Given the description of an element on the screen output the (x, y) to click on. 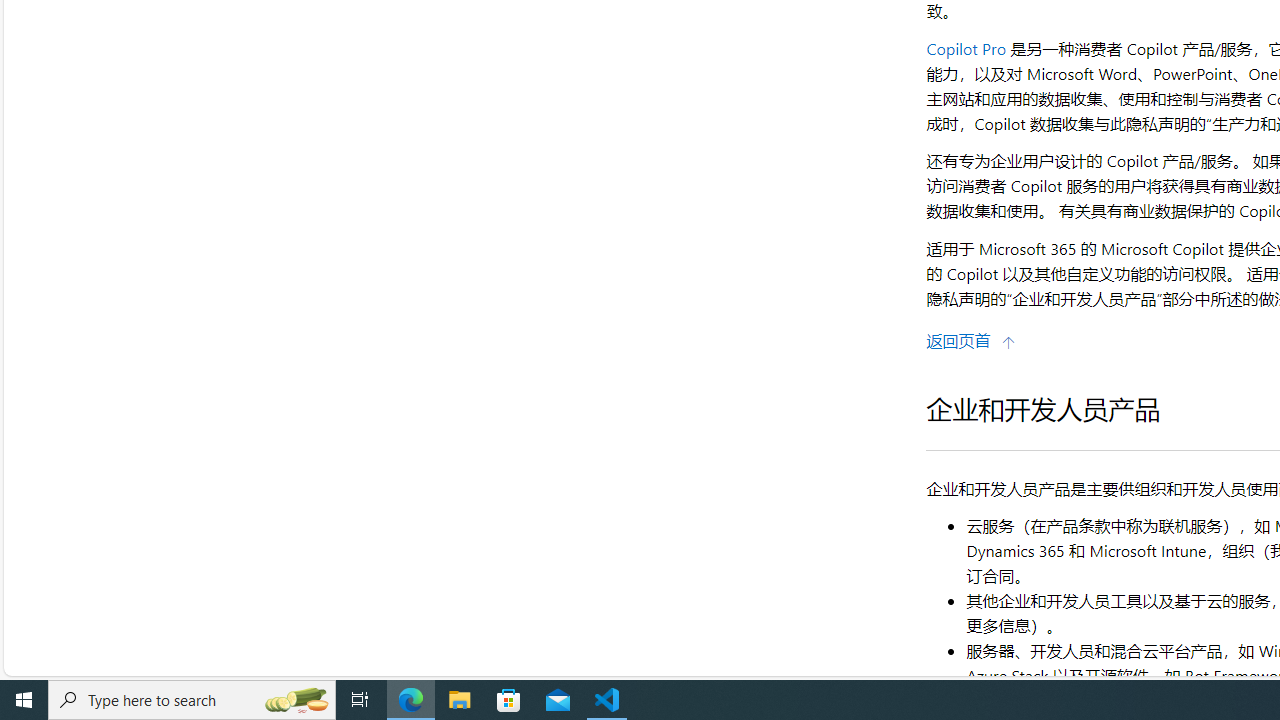
Copilot Pro (965, 47)
